Given the description of an element on the screen output the (x, y) to click on. 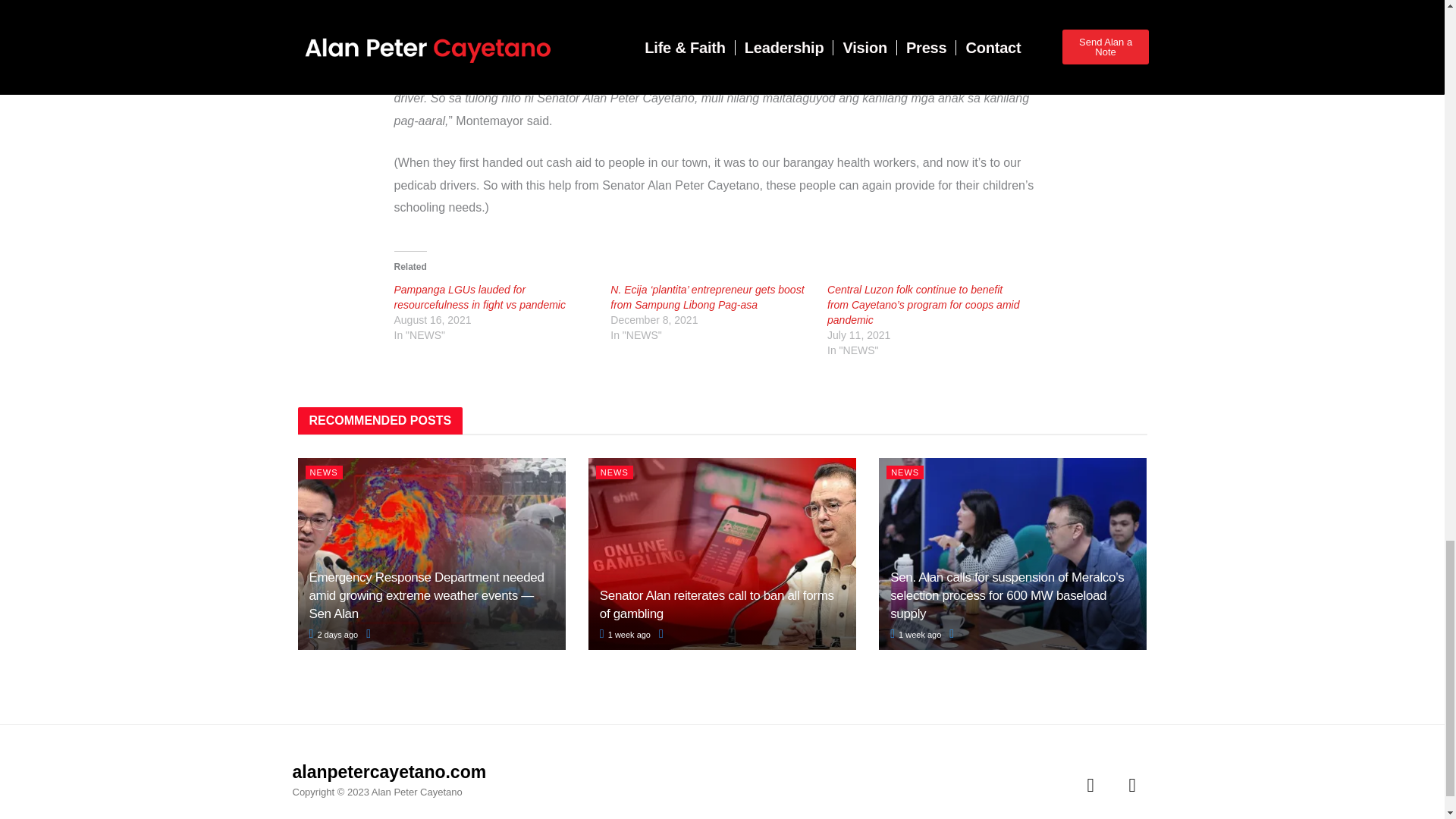
NEWS (323, 472)
2 days ago (333, 634)
